Given the description of an element on the screen output the (x, y) to click on. 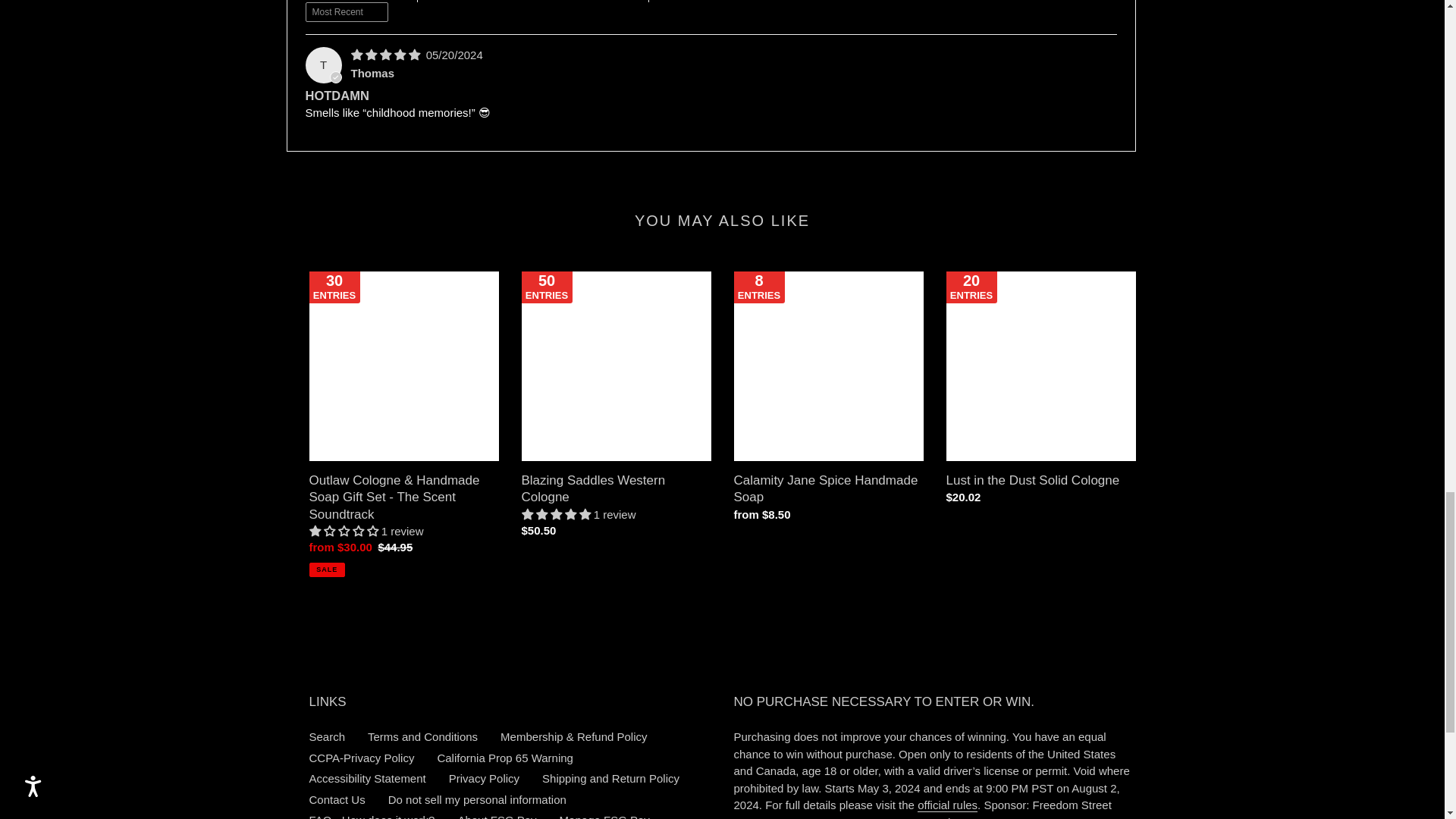
Official Rules (946, 805)
